Given the description of an element on the screen output the (x, y) to click on. 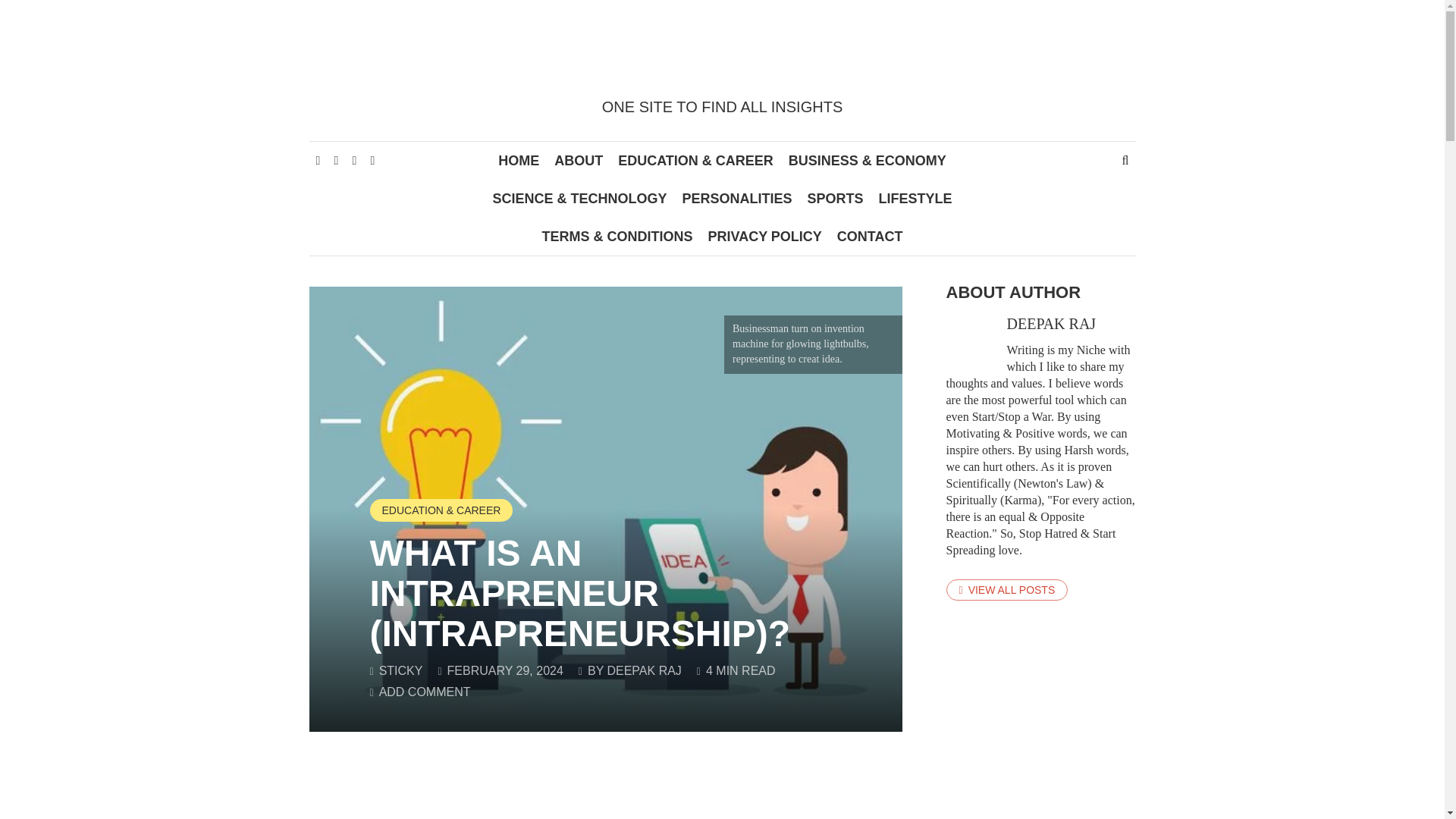
SPORTS (834, 198)
PERSONALITIES (736, 198)
ABOUT (578, 160)
LIFESTYLE (914, 198)
HOME (518, 160)
CONTACT (870, 236)
ADD COMMENT (424, 691)
PRIVACY POLICY (764, 236)
DEEPAK RAJ (644, 670)
